Given the description of an element on the screen output the (x, y) to click on. 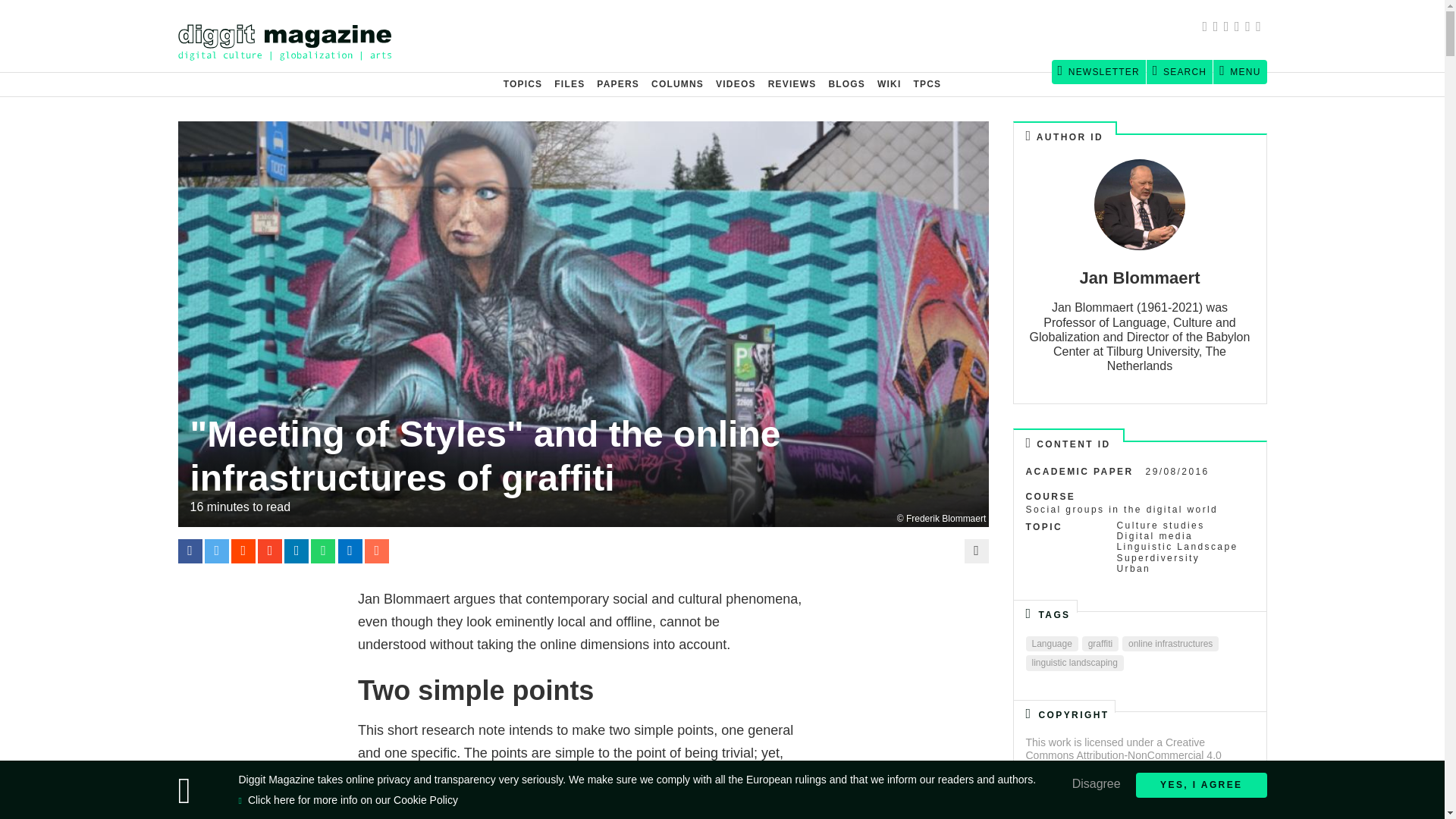
PAPERS (618, 83)
LINKEDIN (1249, 27)
TOPICS (522, 83)
REVIEWS (791, 83)
MENU (1239, 71)
YOUTUBE (1260, 27)
ACADEMIA (1229, 27)
TWITTER (1218, 27)
COLUMNS (677, 83)
